Given the description of an element on the screen output the (x, y) to click on. 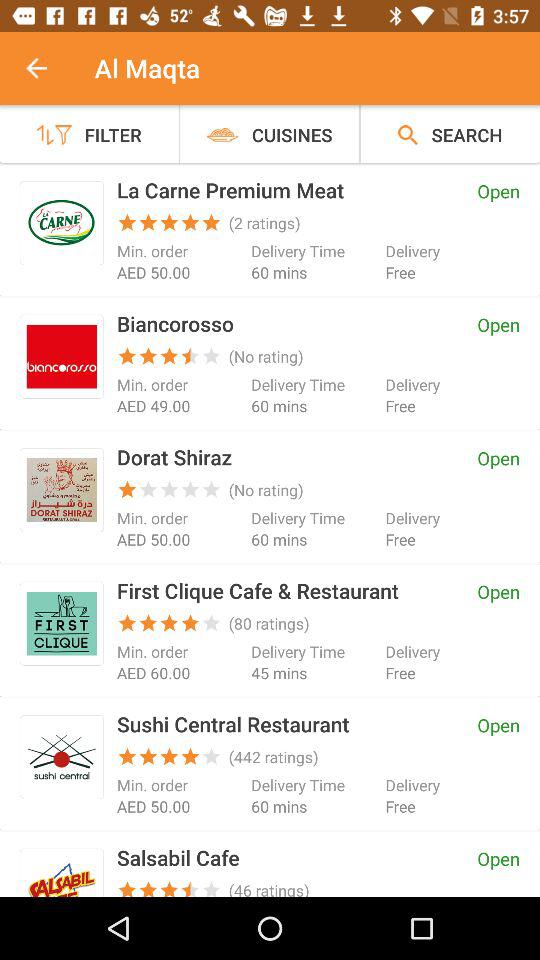
select la carne premium meat restaurant (61, 222)
